Given the description of an element on the screen output the (x, y) to click on. 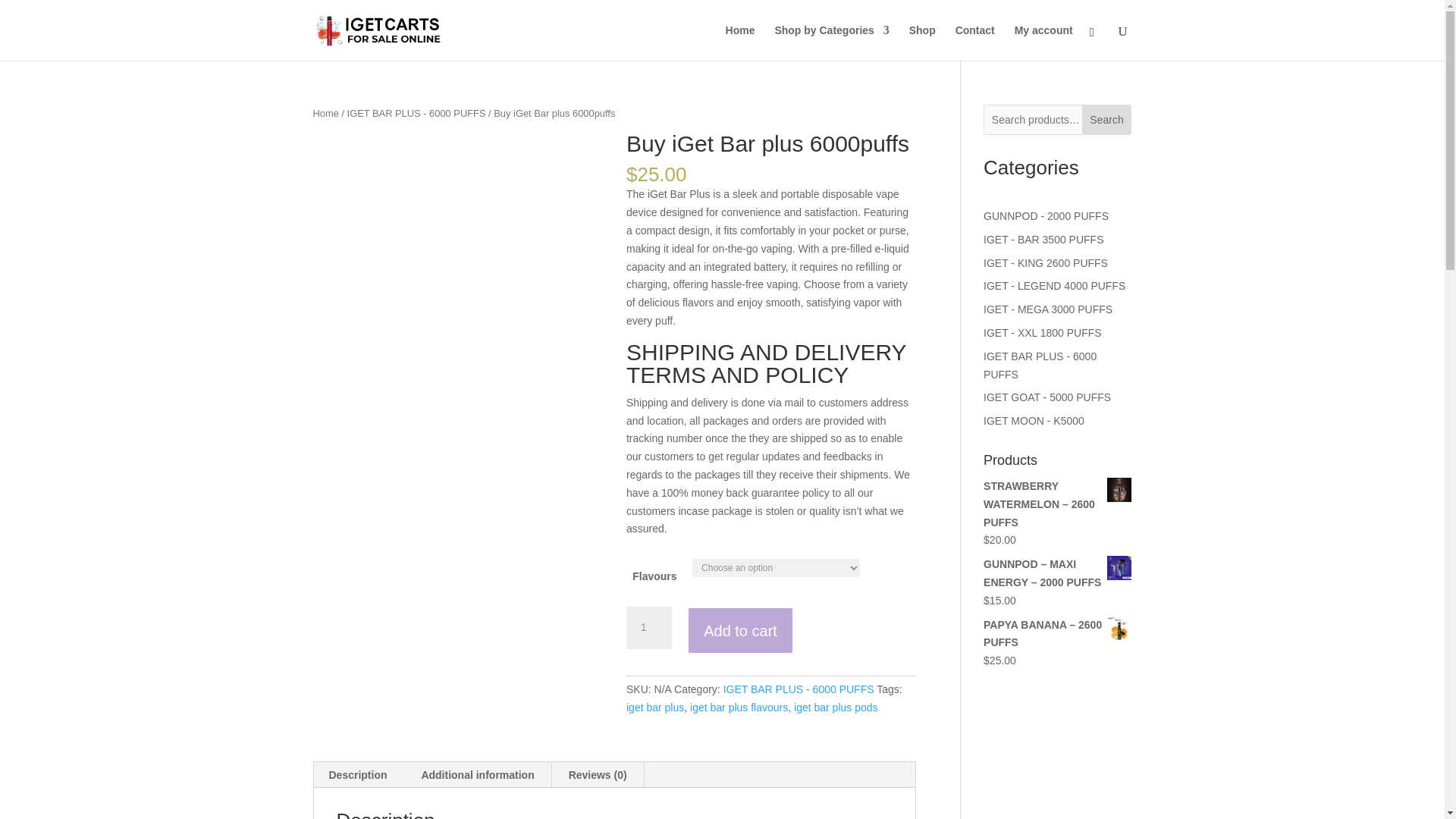
IGET - XXL 1800 PUFFS (1043, 332)
IGET - BAR 3500 PUFFS (1043, 239)
IGET BAR PLUS - 6000 PUFFS (1040, 365)
Contact (974, 42)
IGET - MEGA 3000 PUFFS (1048, 309)
Shop by Categories (831, 42)
IGET BAR PLUS - 6000 PUFFS (799, 689)
iget bar plus pods (835, 707)
IGET - LEGEND 4000 PUFFS (1054, 285)
1 (648, 627)
